Given the description of an element on the screen output the (x, y) to click on. 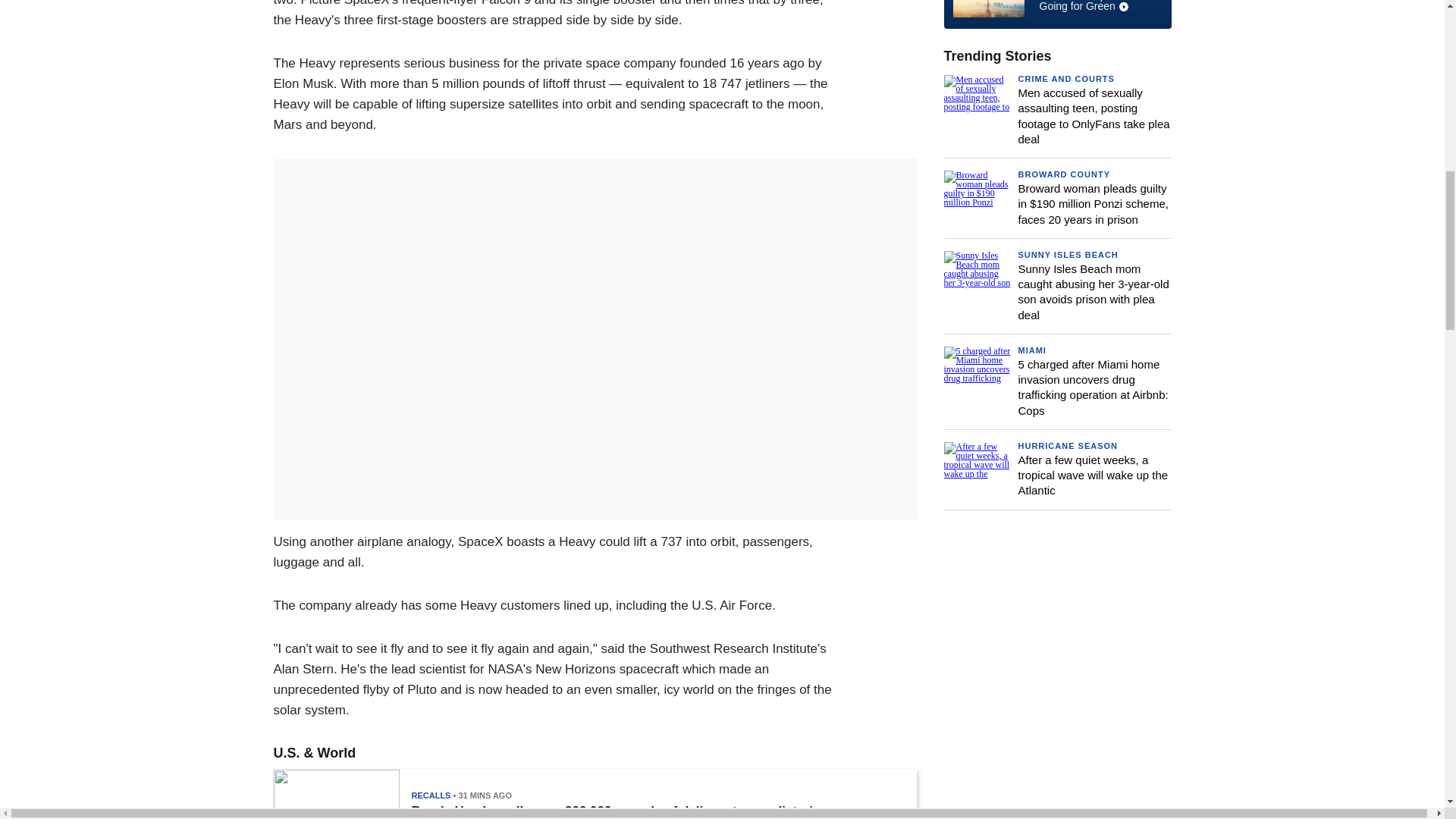
RECALLS (429, 795)
CRIME AND COURTS (1065, 78)
